Given the description of an element on the screen output the (x, y) to click on. 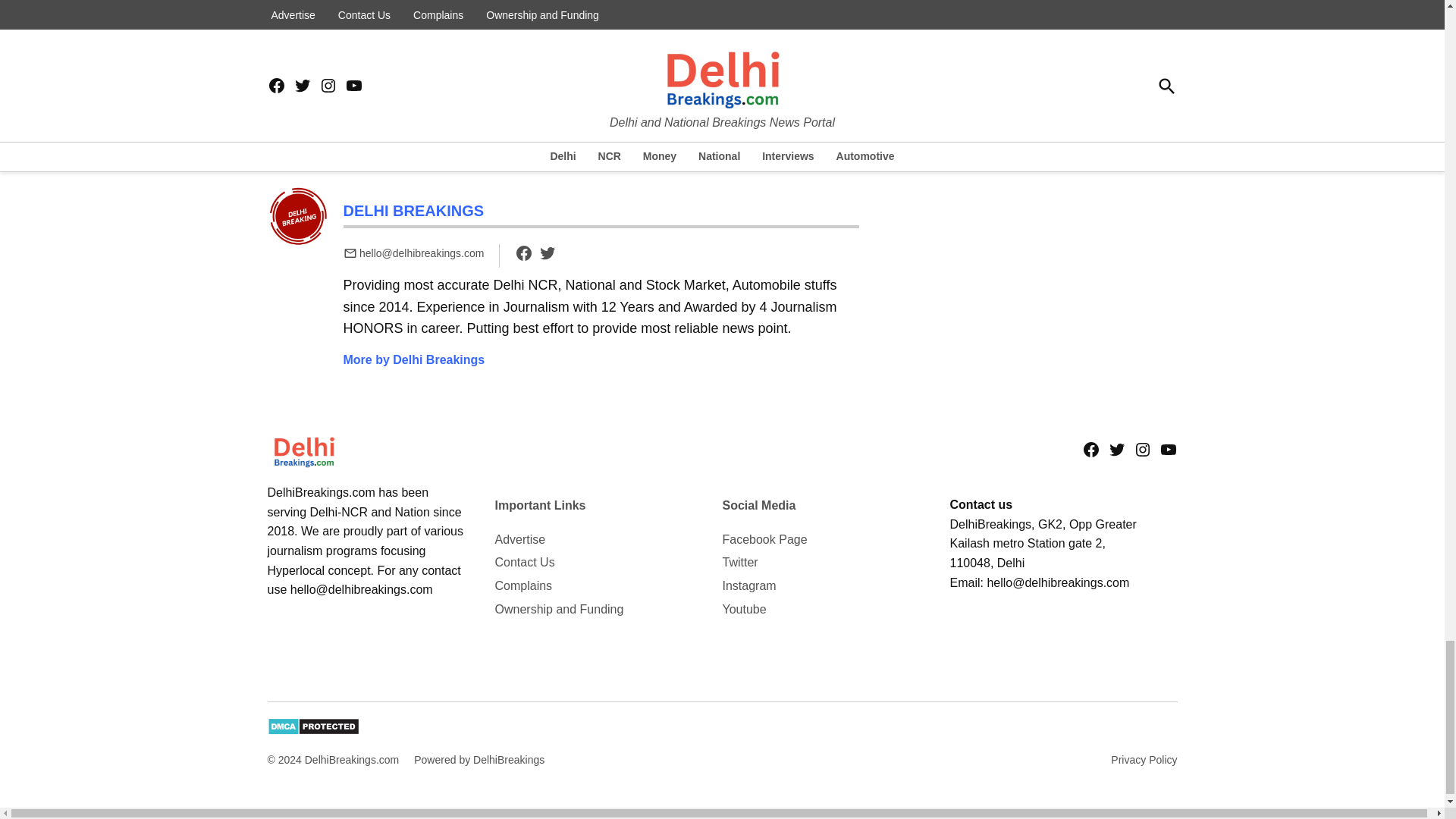
twitter (547, 253)
facebook (523, 253)
DMCA.com Protection Status (312, 731)
